Given the description of an element on the screen output the (x, y) to click on. 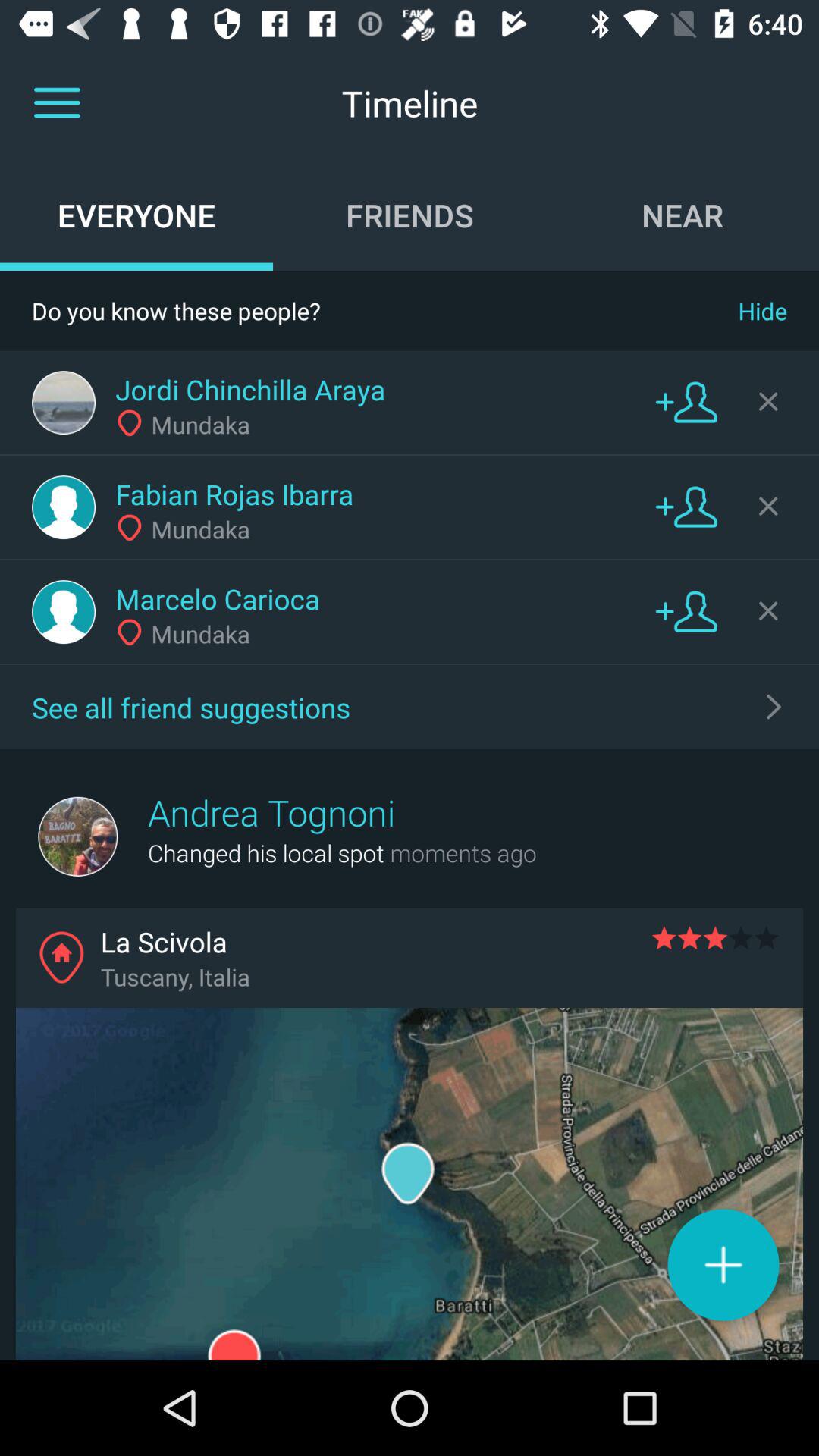
select friends item (409, 214)
